Given the description of an element on the screen output the (x, y) to click on. 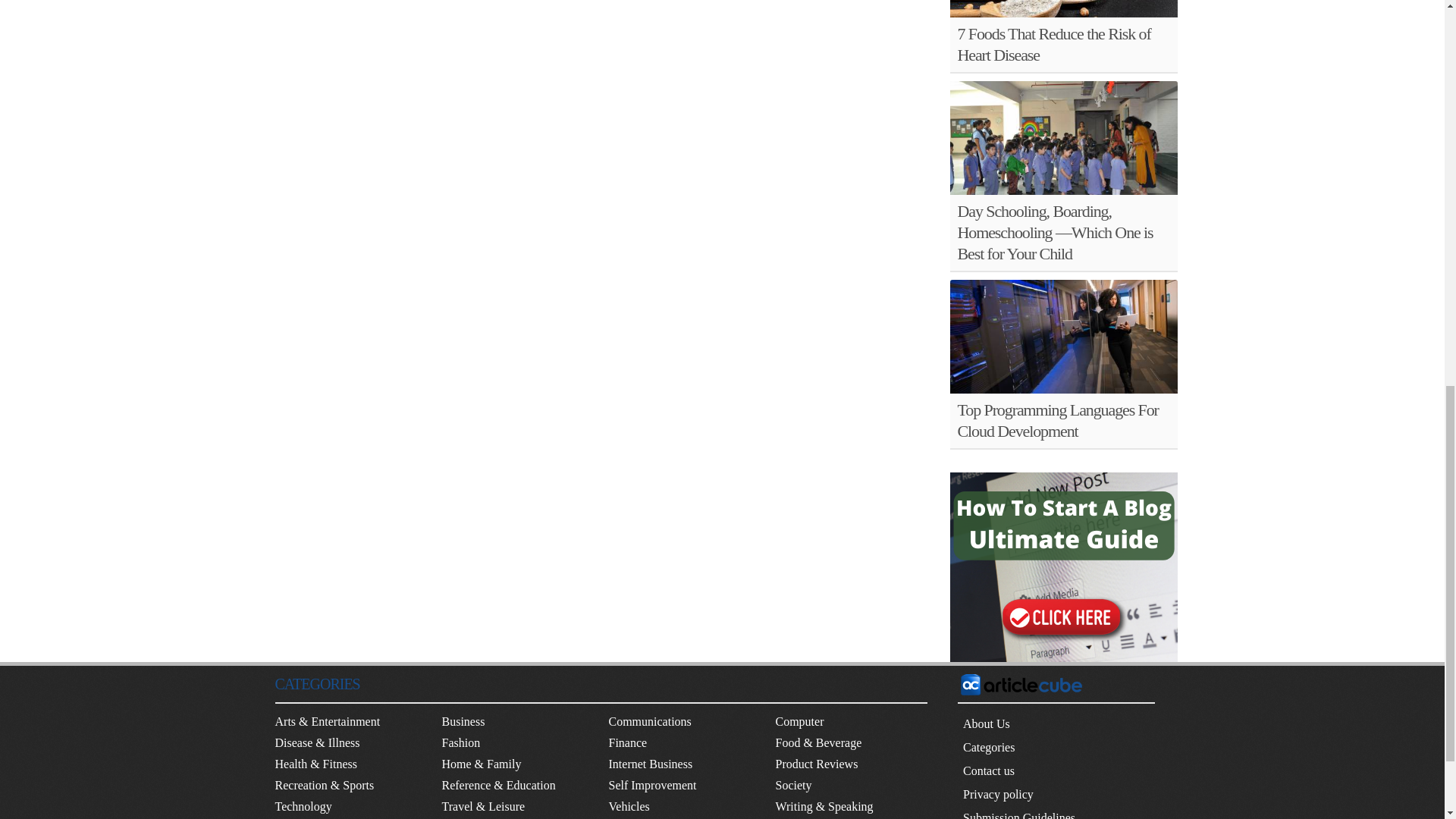
Communications (649, 721)
Finance (627, 742)
7 Foods That Reduce the Risk of Heart Disease (1062, 8)
Business (462, 721)
Computer (799, 721)
Top Programming Languages For Cloud Development (1056, 420)
Fashion (460, 742)
7 Foods That Reduce the Risk of Heart Disease (1053, 44)
